Given the description of an element on the screen output the (x, y) to click on. 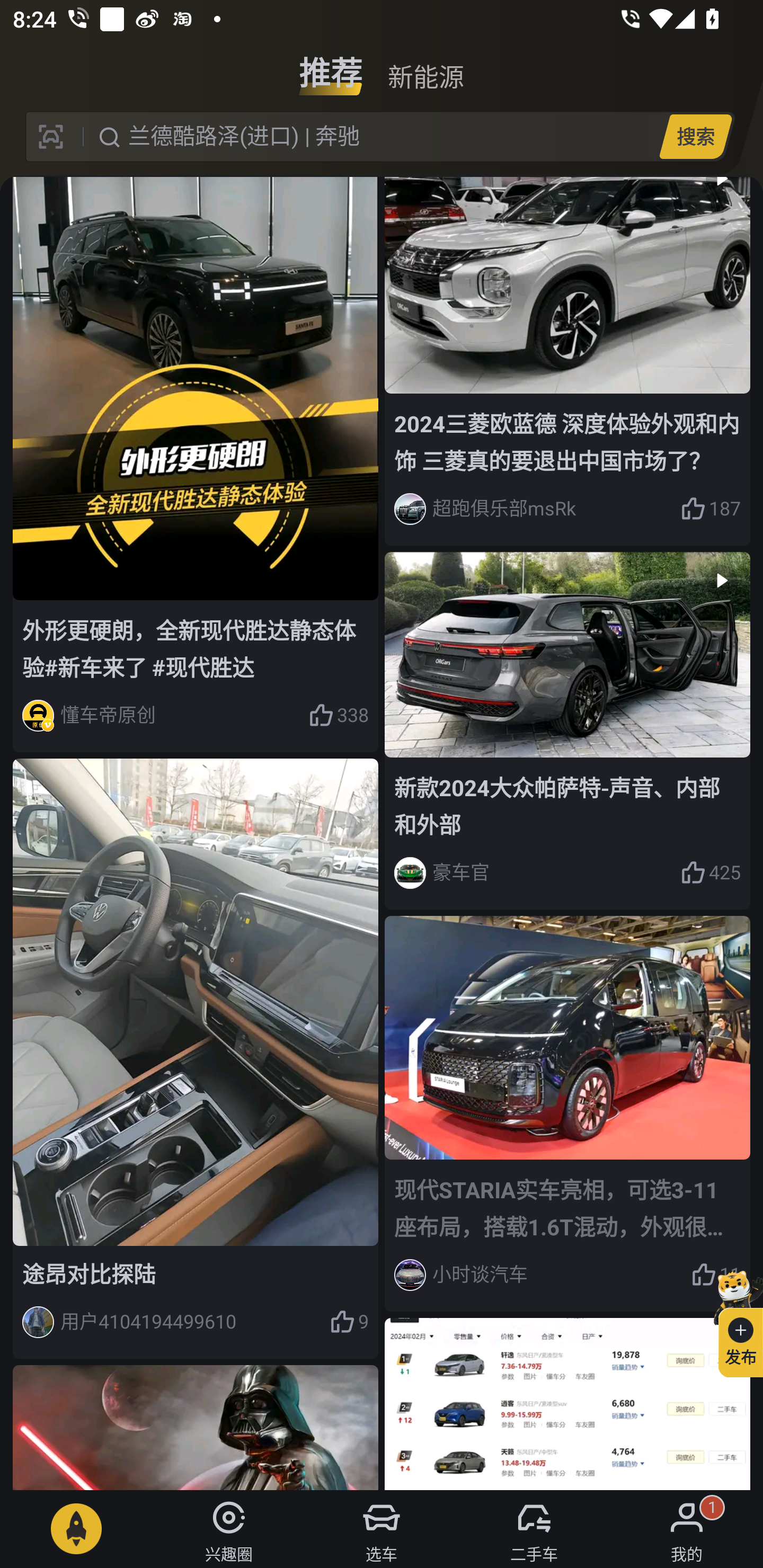
推荐 (330, 65)
新能源 (425, 65)
搜索 (695, 136)
外形更硬朗，全新现代胜达静态体验#新车来了 #现代胜达 懂车帝原创 338 (195, 464)
 2024三菱欧蓝德 深度体验外观和内饰 三菱真的要退出中国市场了？ 超跑俱乐部msRk 187 (567, 361)
187 (710, 508)
 新款2024大众帕萨特-声音、内部和外部 豪车官 425 (567, 730)
338 (338, 715)
途昂对比探陆 用户4104194499610 9 (195, 1058)
425 (710, 872)
现代STARIA实车亮相，可选3-11座布局，搭载1.6T混动，外观很时尚 小时谈汽车 11 (567, 1112)
11 (715, 1274)
发布 (732, 1321)
9 (348, 1321)
 兴趣圈 (228, 1528)
 选车 (381, 1528)
 二手车 (533, 1528)
 我的 (686, 1528)
